Given the description of an element on the screen output the (x, y) to click on. 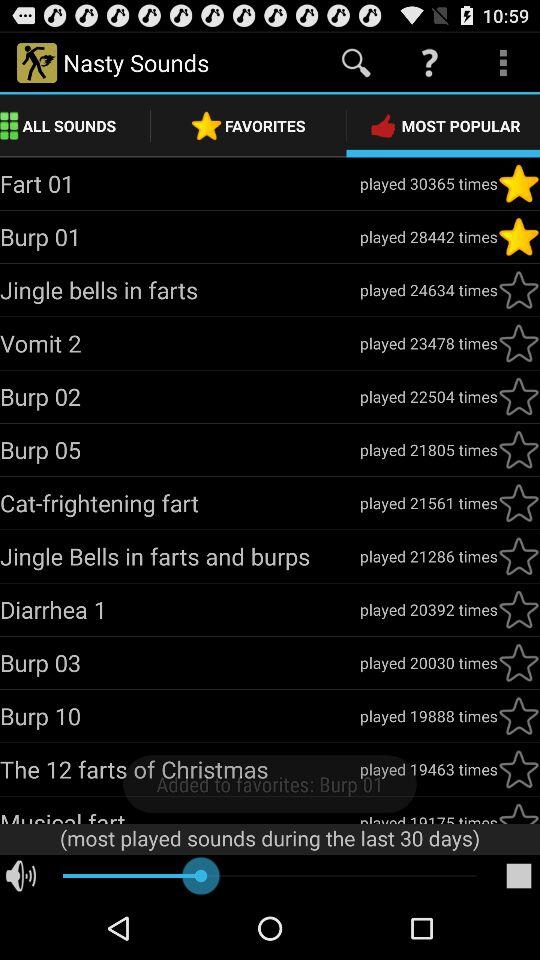
add to favorites (519, 396)
